Given the description of an element on the screen output the (x, y) to click on. 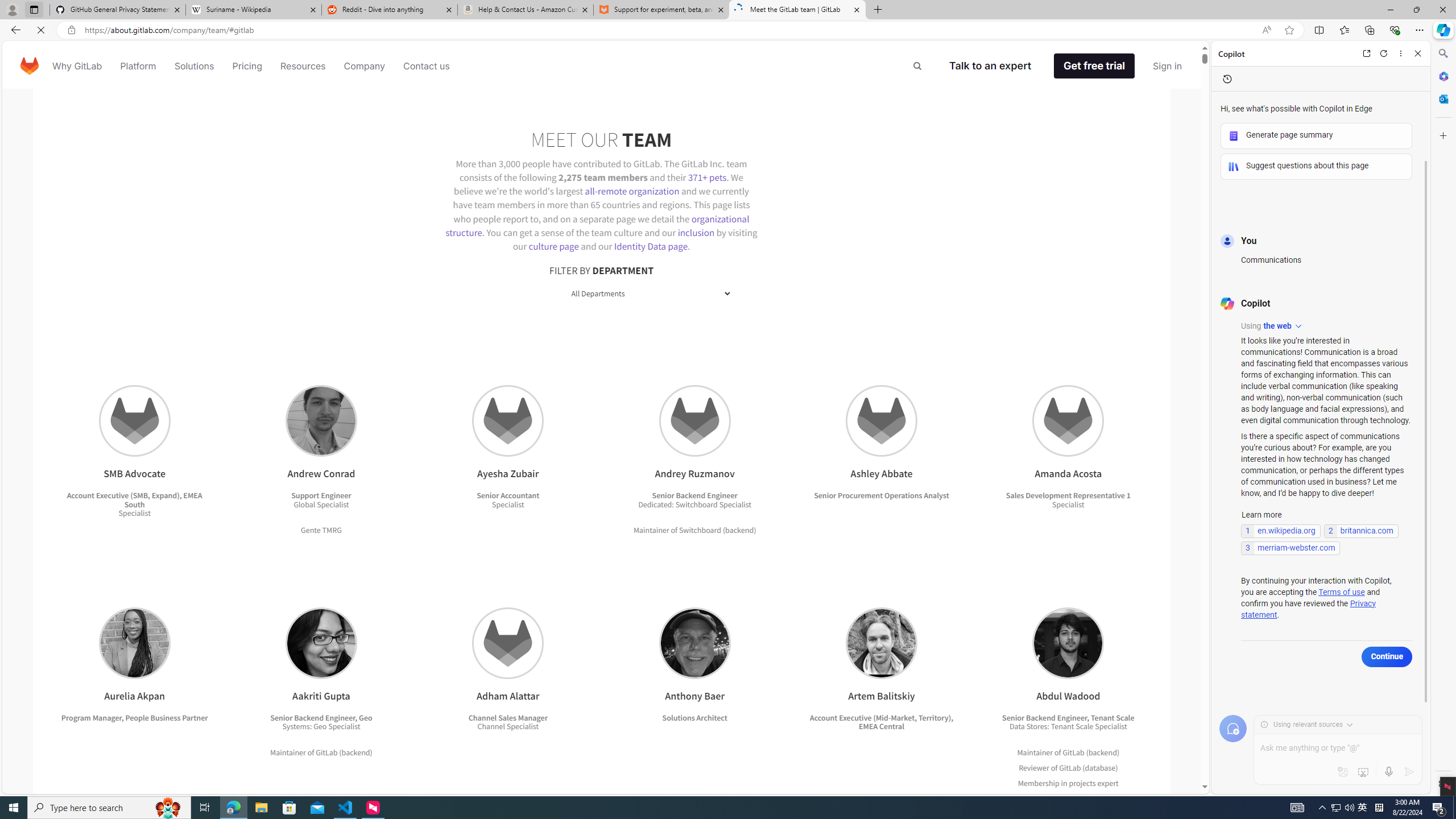
GitHub General Privacy Statement - GitHub Docs (117, 9)
